Given the description of an element on the screen output the (x, y) to click on. 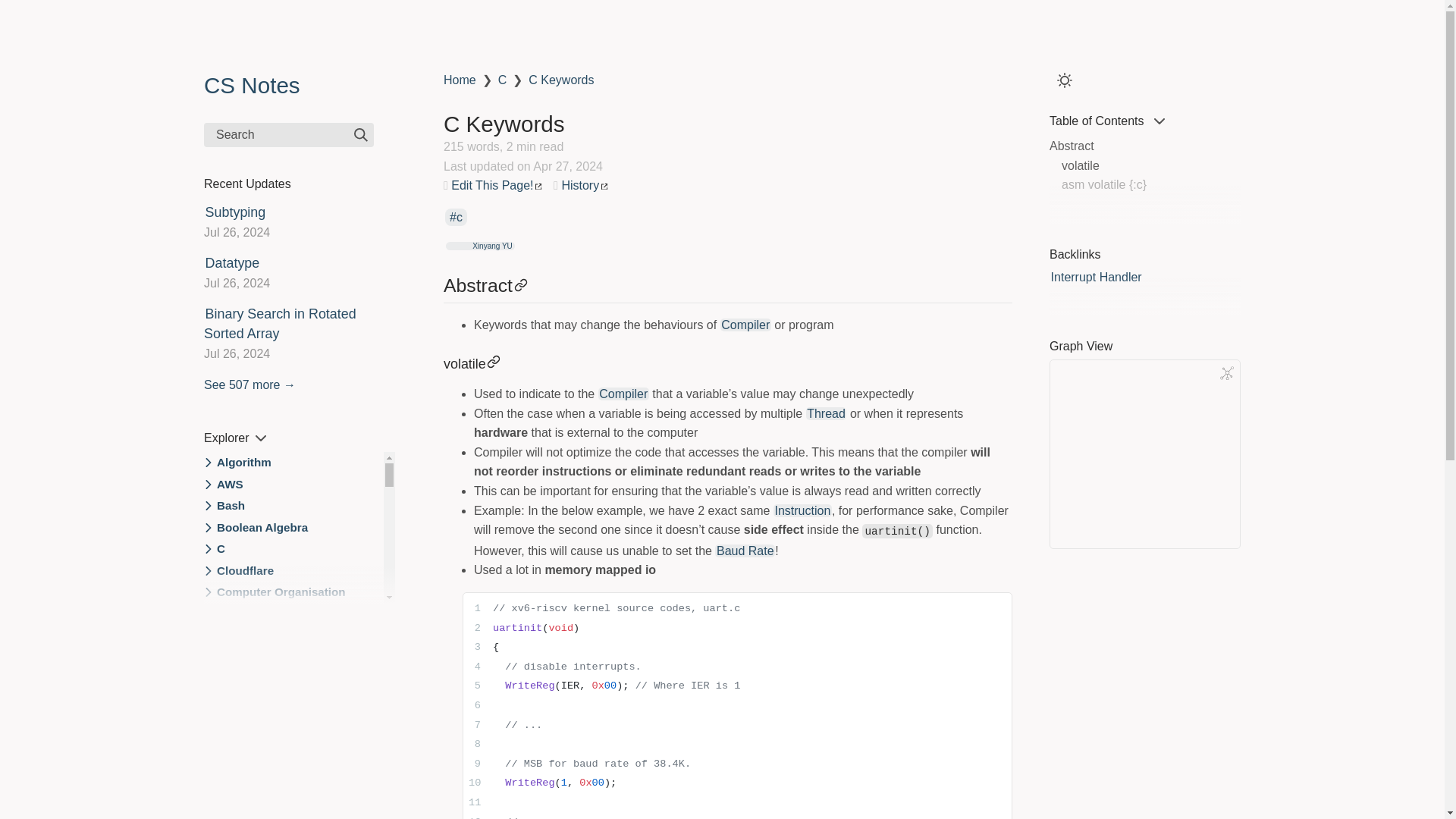
Subtyping (234, 212)
Algorithm (243, 462)
CS Notes (251, 84)
AWS (229, 484)
Binary Search in Rotated Sorted Array (279, 323)
Explorer (234, 438)
Datatype (231, 263)
